Given the description of an element on the screen output the (x, y) to click on. 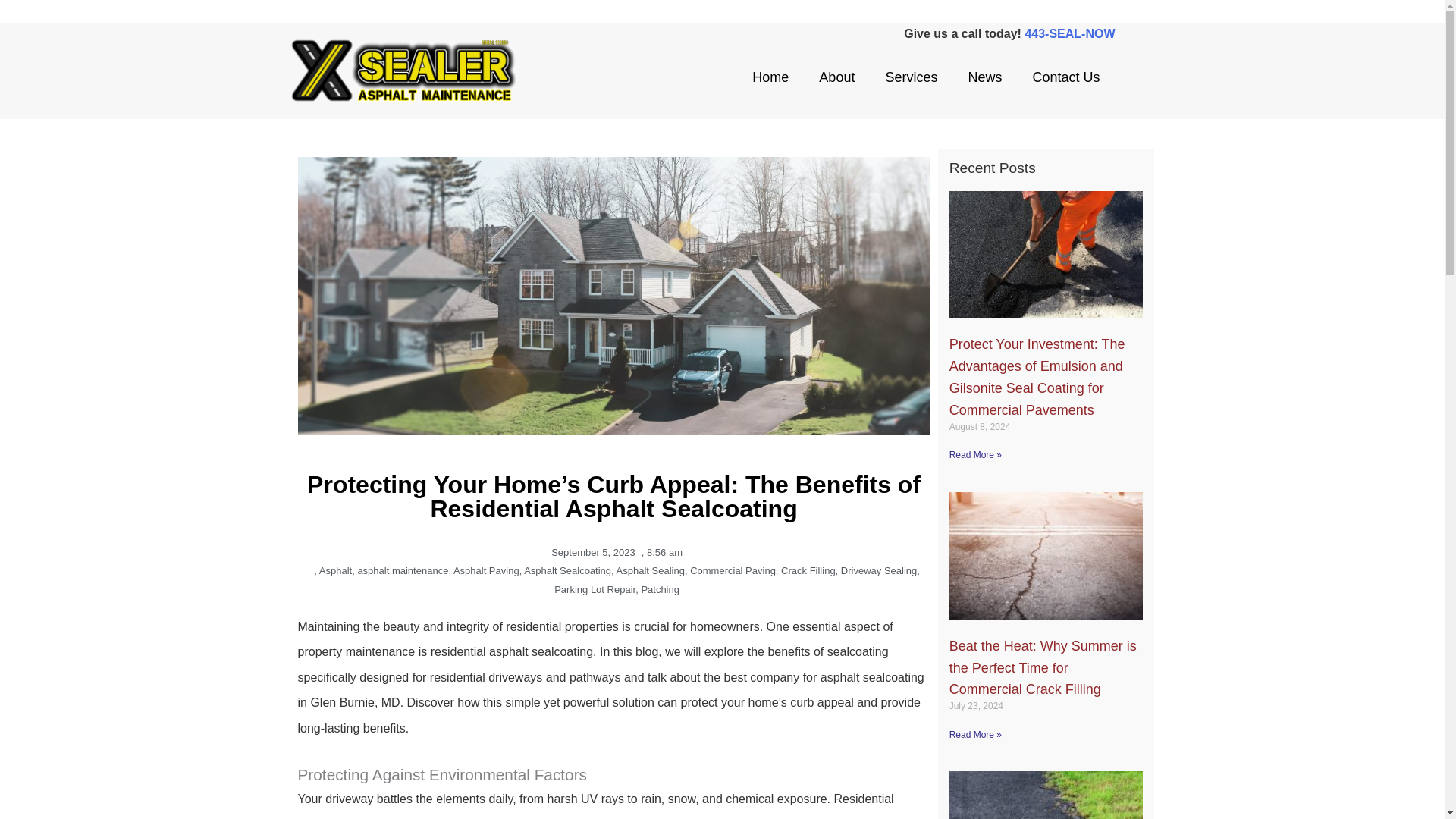
Services (910, 77)
asphalt maintenance (402, 570)
Commercial Paving (733, 570)
Asphalt (335, 570)
443-SEAL-NOW (1070, 33)
Patching (659, 589)
Crack Filling (807, 570)
Contact Us (1065, 77)
Driveway Sealing (879, 570)
